Given the description of an element on the screen output the (x, y) to click on. 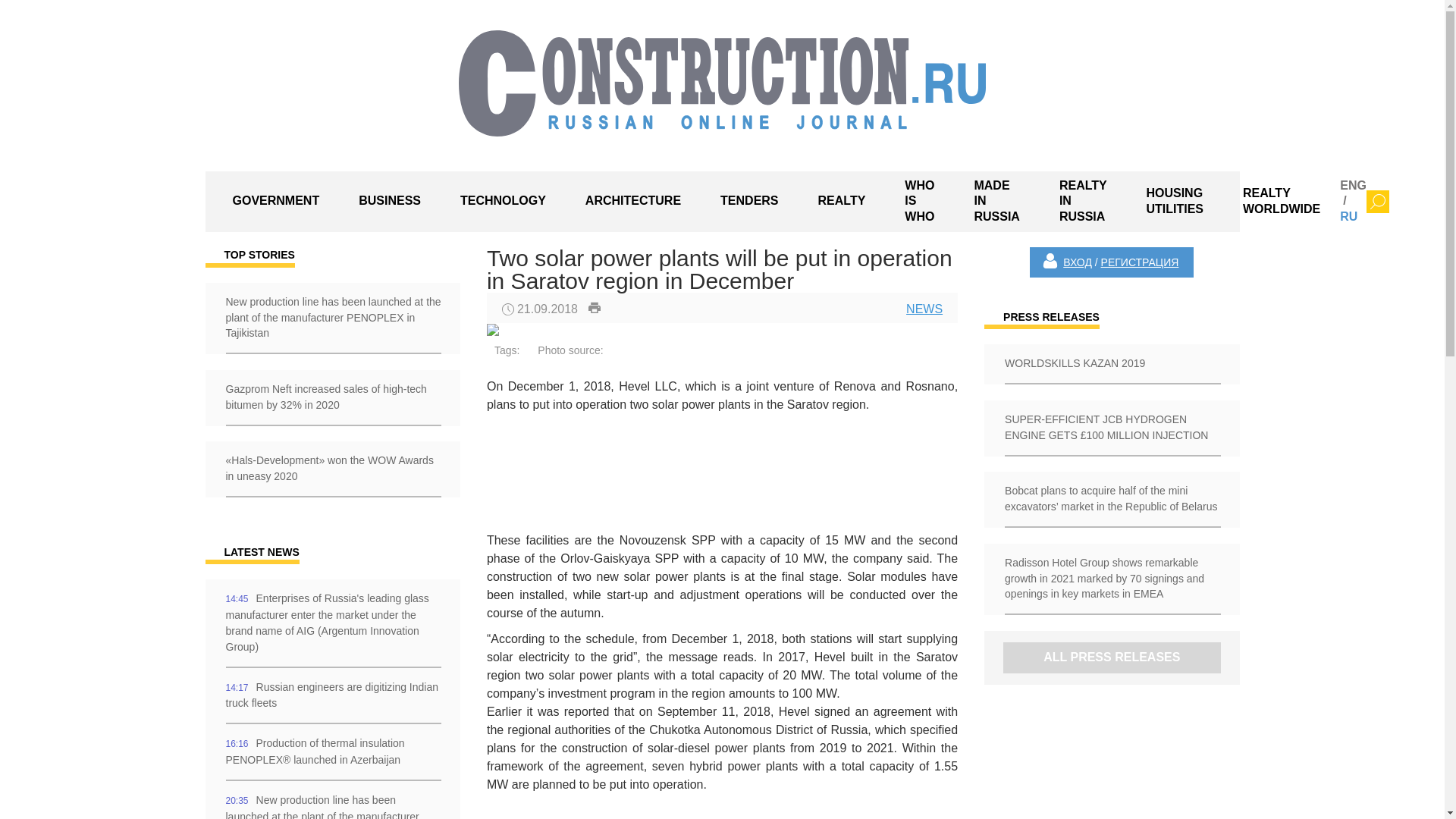
GOVERNMENT (275, 201)
REALTY (841, 201)
Advertisement (634, 473)
BUSINESS (390, 201)
Close (1378, 201)
NEWS (923, 308)
RU (1347, 215)
ARCHITECTURE (633, 201)
All Press Releases (1111, 657)
MADE IN RUSSIA (996, 201)
14:17Russian engineers are digitizing Indian truck fleets (332, 696)
WORLDSKILLS KAZAN 2019 (1111, 363)
TENDERS (748, 201)
